Given the description of an element on the screen output the (x, y) to click on. 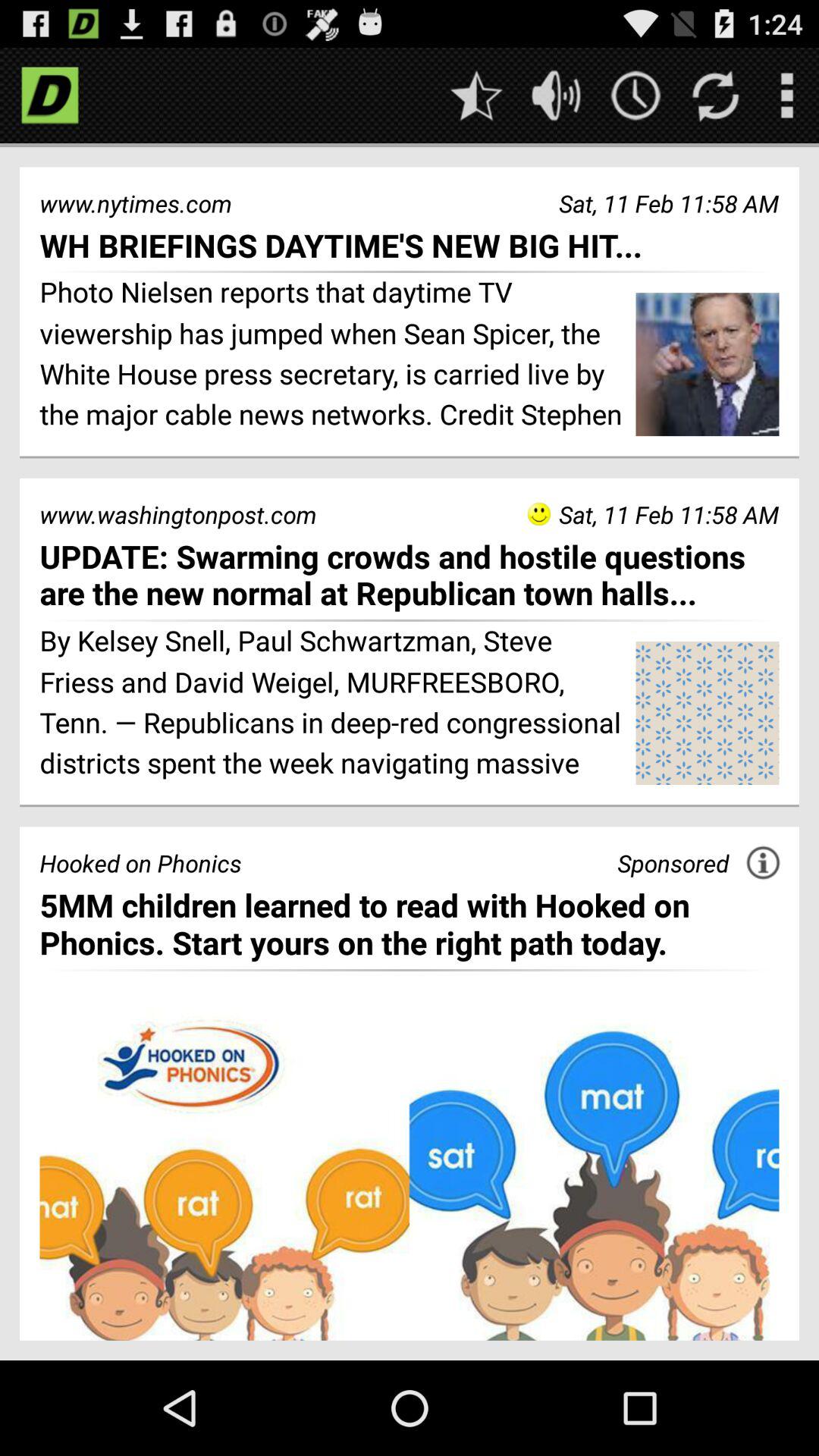
click photo nielsen reports (332, 356)
